Given the description of an element on the screen output the (x, y) to click on. 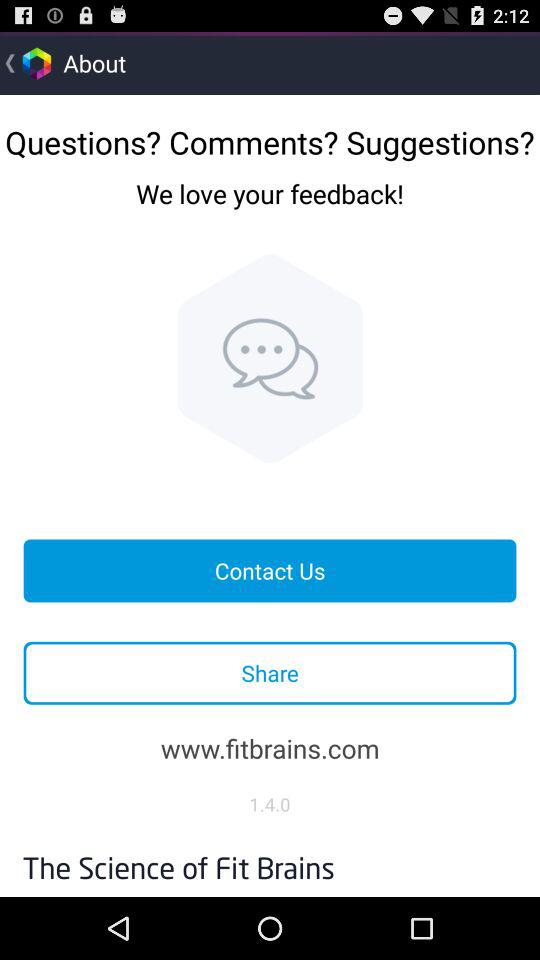
launch the item below contact us (269, 672)
